Given the description of an element on the screen output the (x, y) to click on. 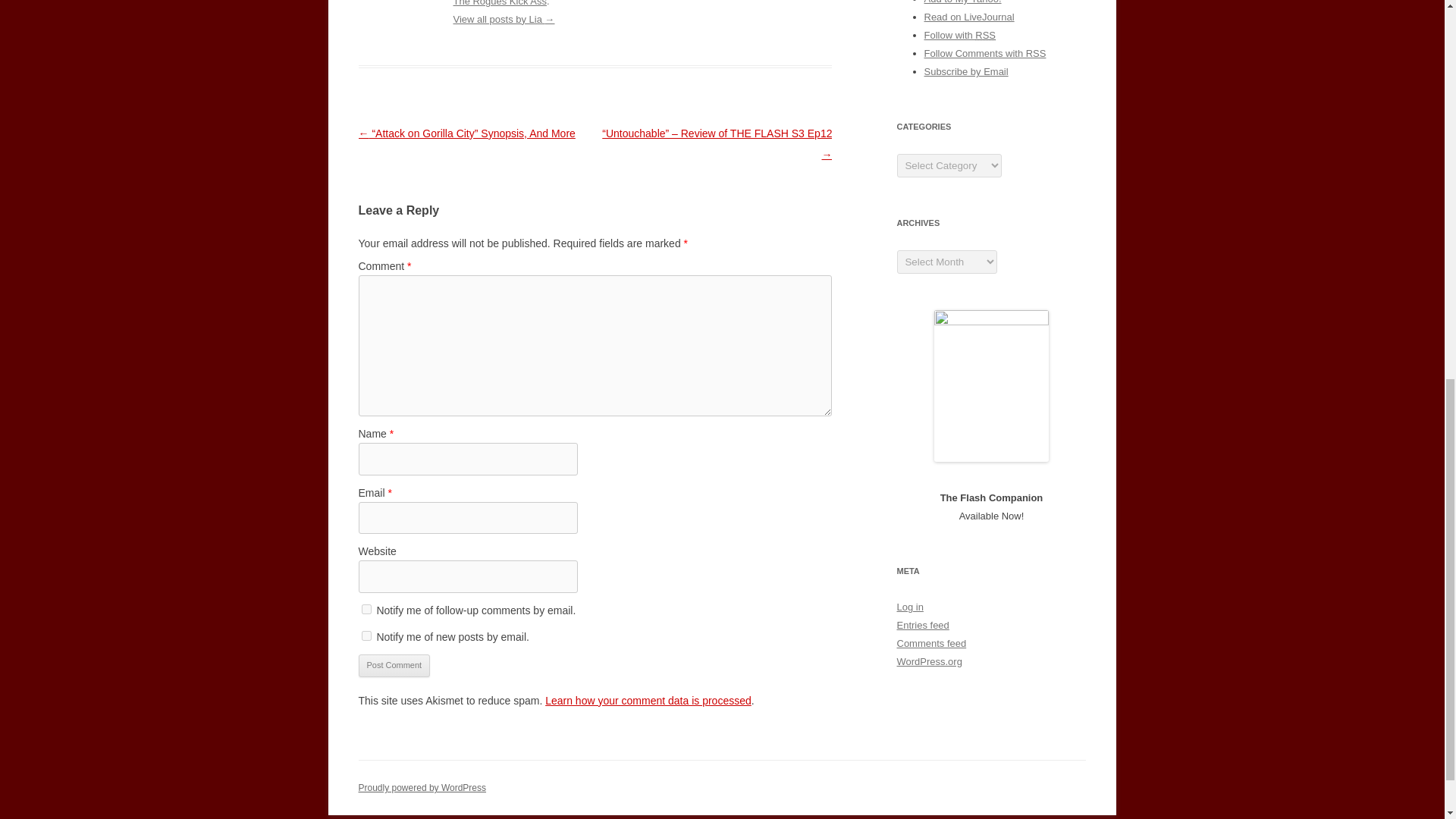
Subscribe by Email (965, 71)
Really Simple Syndication (985, 34)
Semantic Personal Publishing Platform (422, 787)
Syndicate this site using RSS 2.0 (959, 34)
The Rogues Kick Ass (499, 3)
Follow Comments with RSS (984, 52)
Add to My Yahoo! (962, 2)
The latest comments to all posts in RSS (984, 52)
subscribe (366, 609)
Learn how your comment data is processed (647, 700)
Post Comment (393, 665)
Read on LiveJournal (968, 16)
Post Comment (393, 665)
subscribe (366, 635)
Follow with RSS (959, 34)
